Given the description of an element on the screen output the (x, y) to click on. 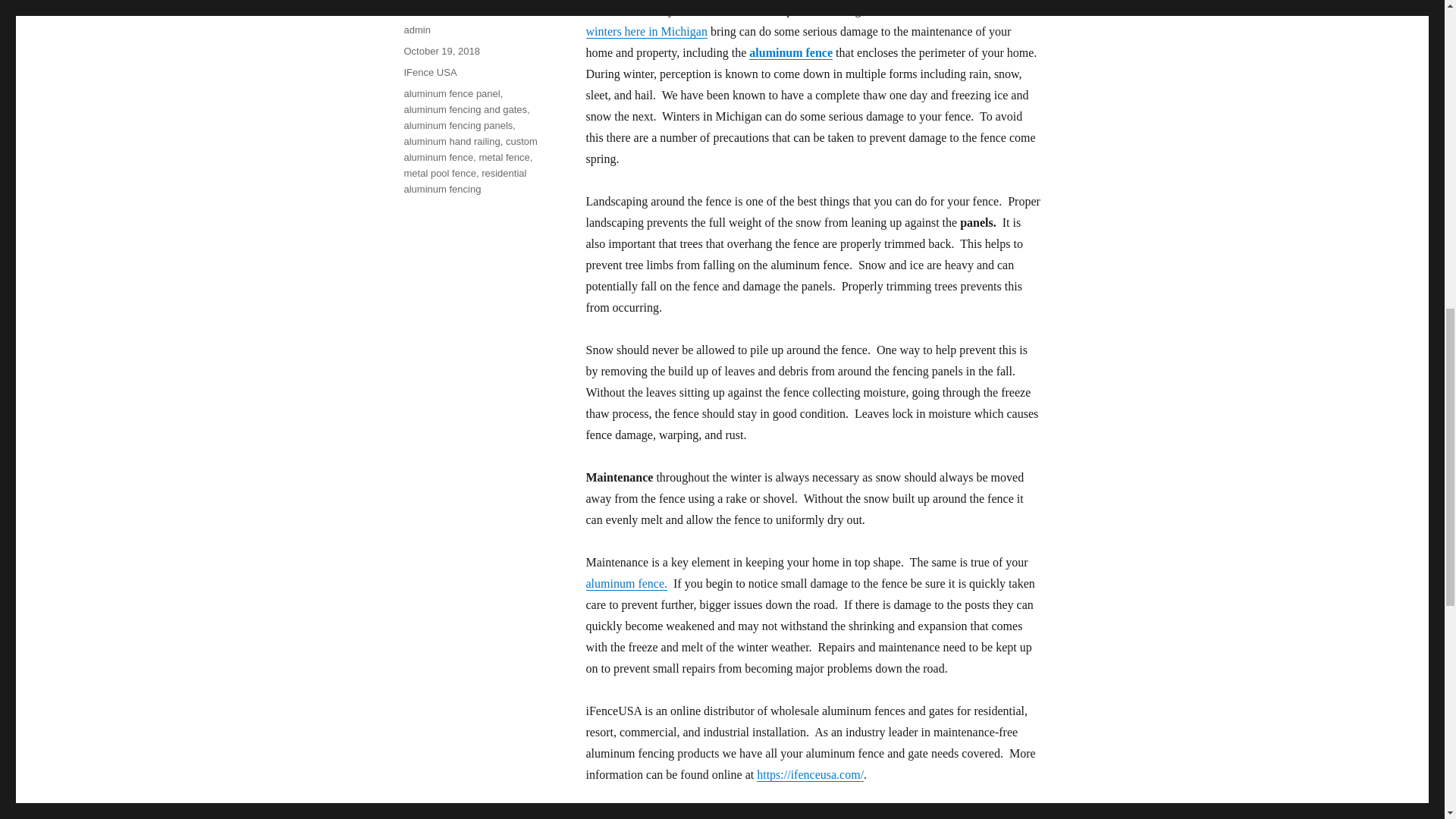
October 19, 2018 (441, 50)
aluminum hand railing (451, 141)
aluminum fence (790, 51)
admin (416, 30)
winters here in Michigan (645, 31)
aluminum fencing and gates (465, 109)
aluminum fence. (625, 583)
aluminum fencing panels (457, 125)
metal pool fence (439, 173)
metal fence (504, 156)
